Given the description of an element on the screen output the (x, y) to click on. 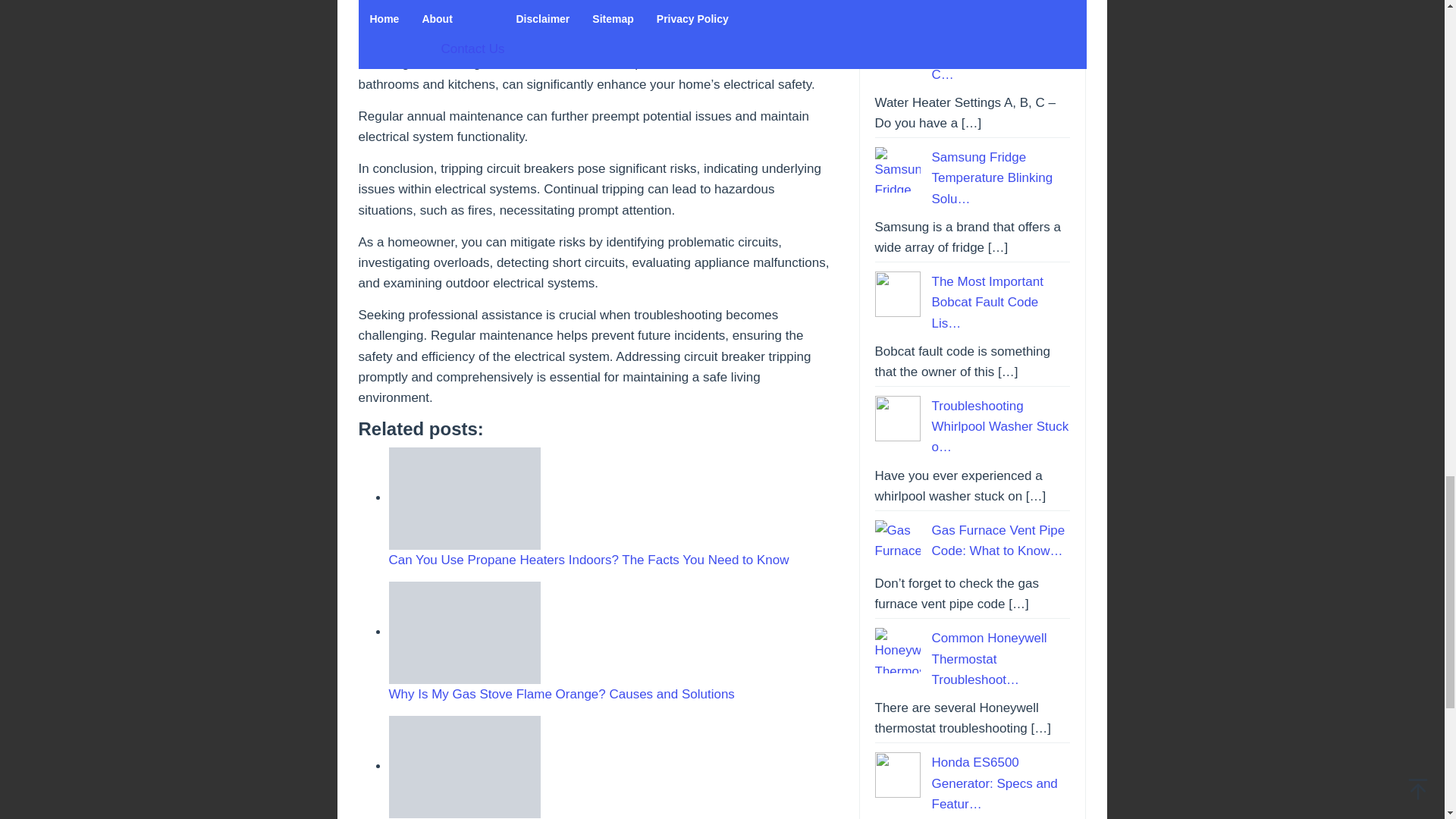
Why Is My Gas Stove Flame Orange? Causes and Solutions (560, 694)
why is my gas stove flame orange (464, 632)
Permalink to: All about Dishwasher Placement Next to Stove (464, 766)
can you use propane heaters indoors (464, 498)
dishwasher next to stove (464, 766)
